Given the description of an element on the screen output the (x, y) to click on. 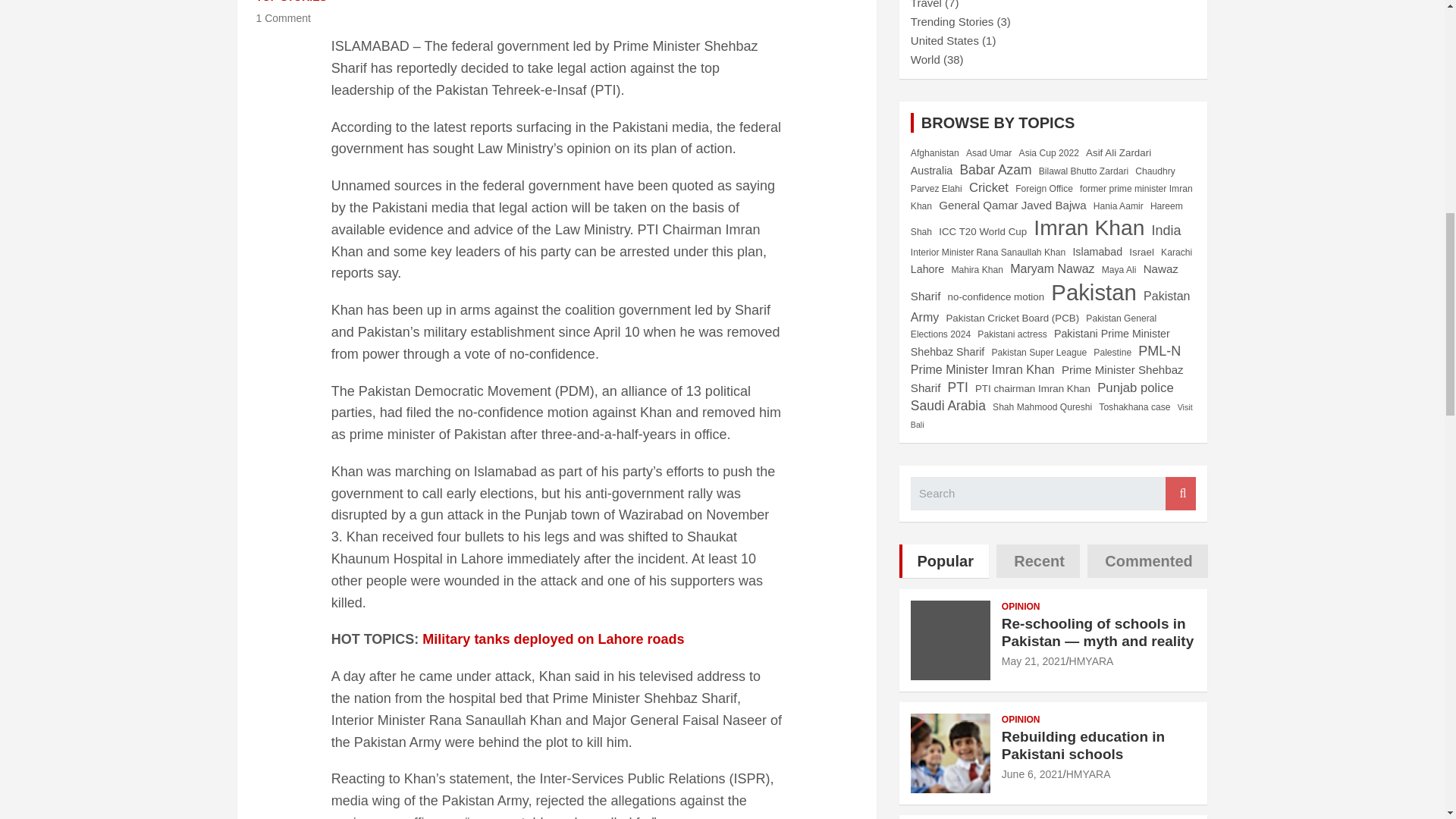
Rebuilding education in Pakistani schools (1031, 774)
TOP STORIES (291, 2)
